Given the description of an element on the screen output the (x, y) to click on. 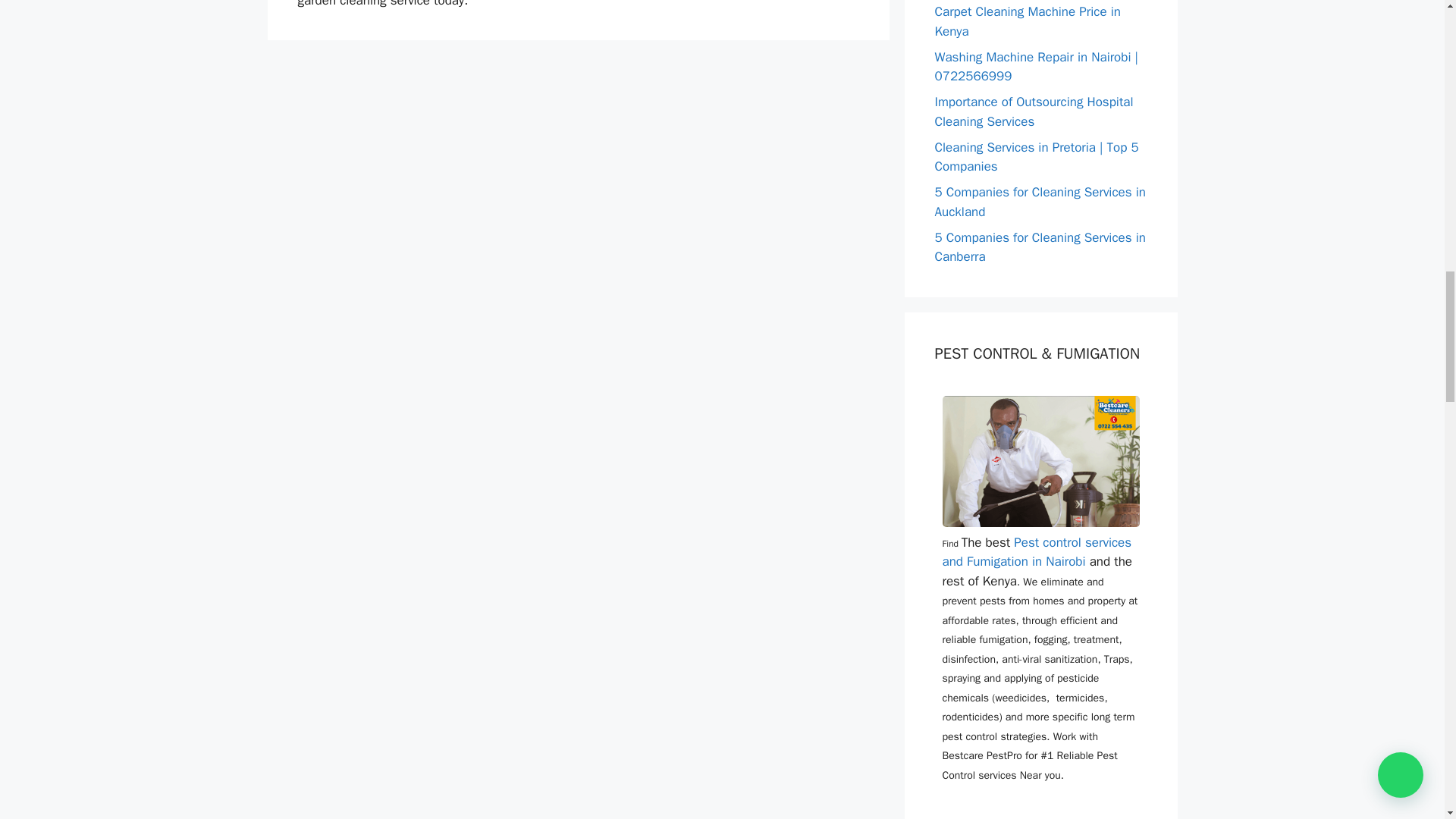
Pest control services and Fumigation in Nairobi (1036, 552)
